Given the description of an element on the screen output the (x, y) to click on. 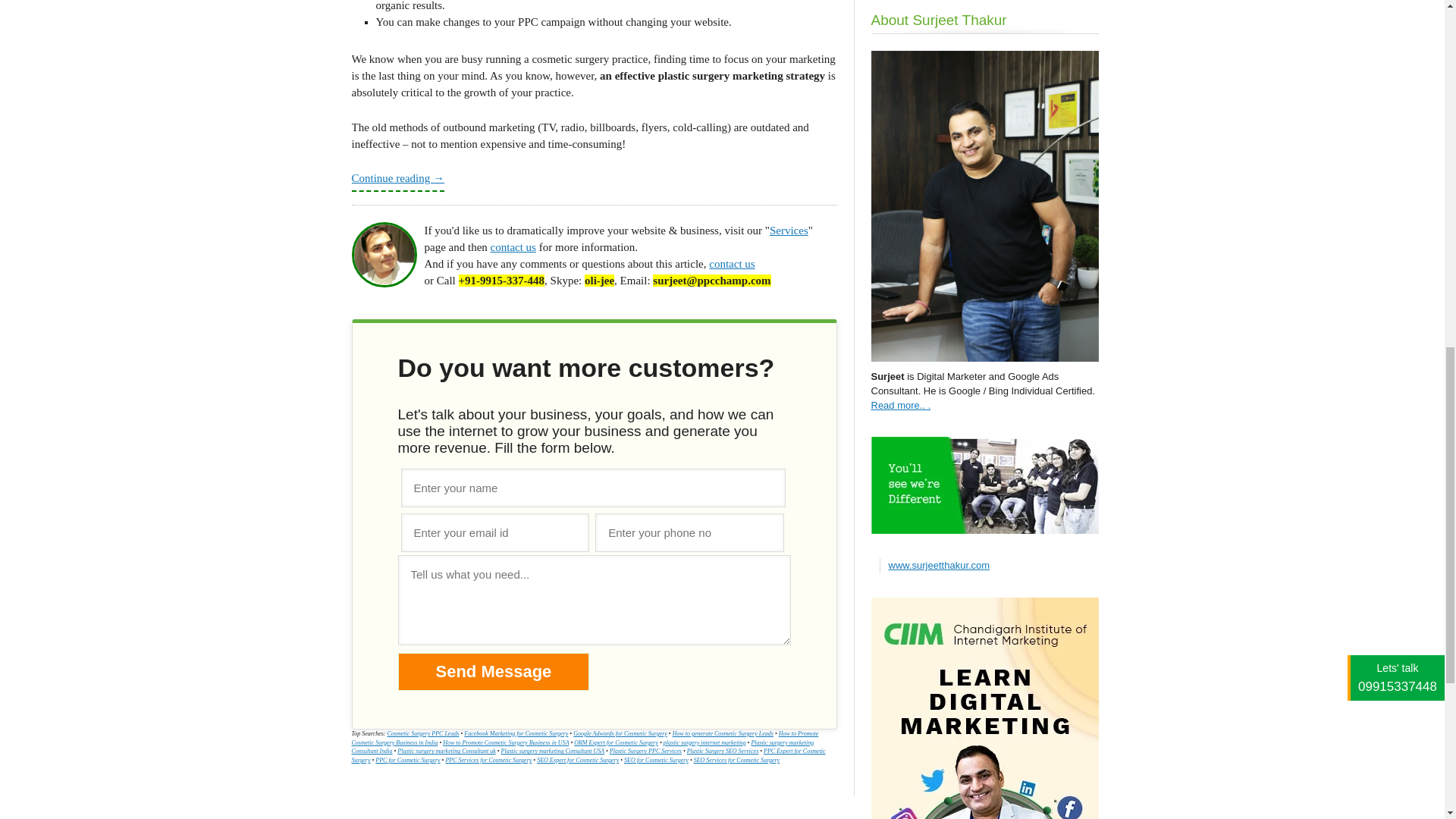
Cosmetic Surgery PPC Leads (422, 733)
Plastic surgery marketing Consultant USA (552, 750)
How to Promote Cosmetic Surgery Business in USA (505, 742)
How to Promote Cosmetic Surgery Business in India (585, 738)
Send Message (493, 671)
PPC Services for Cosmetic Surgery (488, 759)
contact us (731, 263)
Plastic surgery marketing Consultant India (582, 747)
ORM Expert for Cosmetic Surgery (615, 742)
contact us (512, 246)
